Given the description of an element on the screen output the (x, y) to click on. 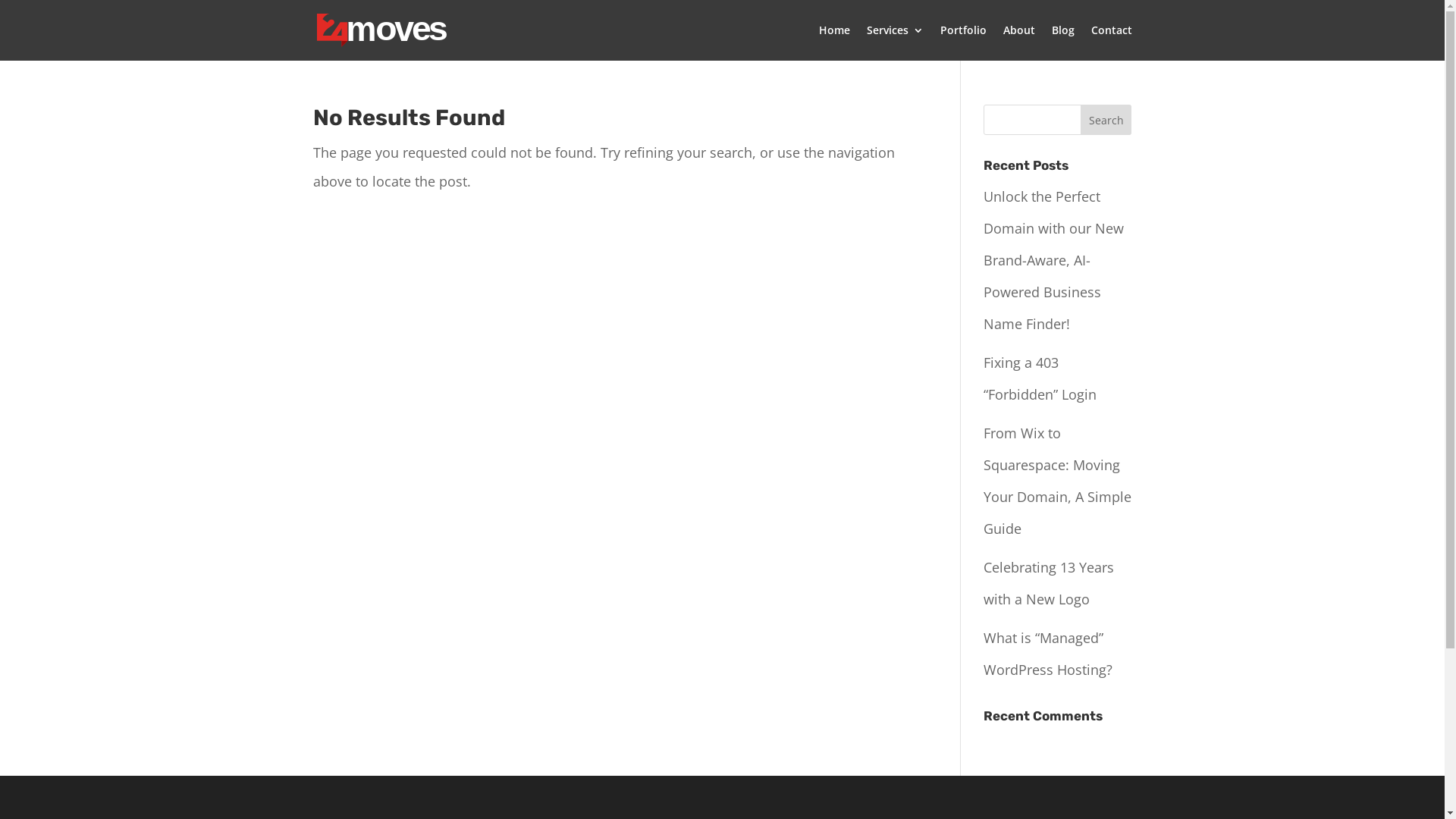
About Element type: text (1018, 42)
Blog Element type: text (1062, 42)
Contact Element type: text (1110, 42)
Search Element type: text (1106, 119)
Services Element type: text (894, 42)
Home Element type: text (834, 42)
From Wix to Squarespace: Moving Your Domain, A Simple Guide Element type: text (1057, 480)
Portfolio Element type: text (963, 42)
Celebrating 13 Years with a New Logo Element type: text (1048, 583)
